Given the description of an element on the screen output the (x, y) to click on. 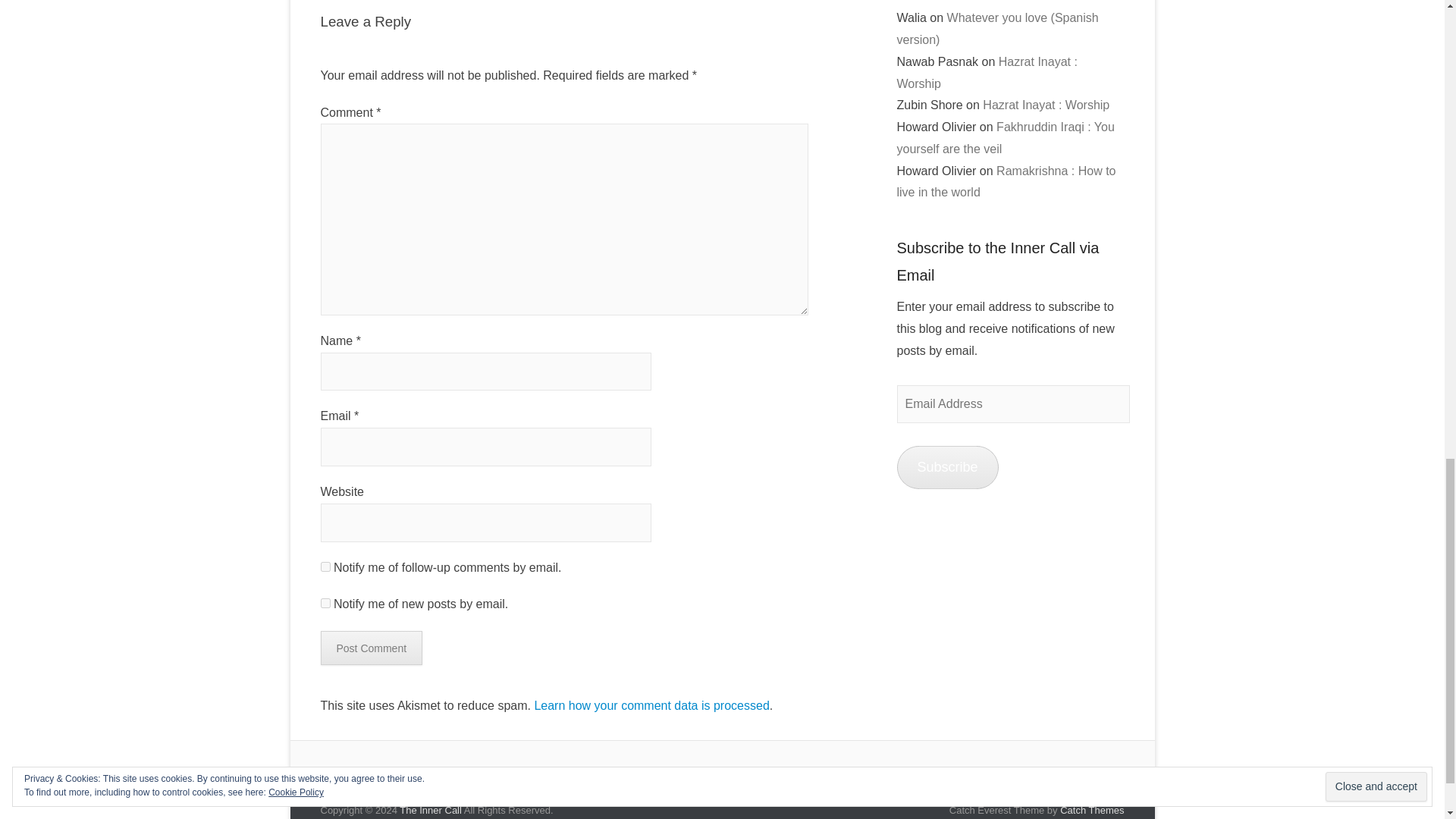
Learn how your comment data is processed (651, 705)
Catch Themes (1091, 809)
Post Comment (371, 647)
subscribe (325, 603)
Post Comment (371, 647)
subscribe (325, 566)
The Inner Call (429, 809)
